Given the description of an element on the screen output the (x, y) to click on. 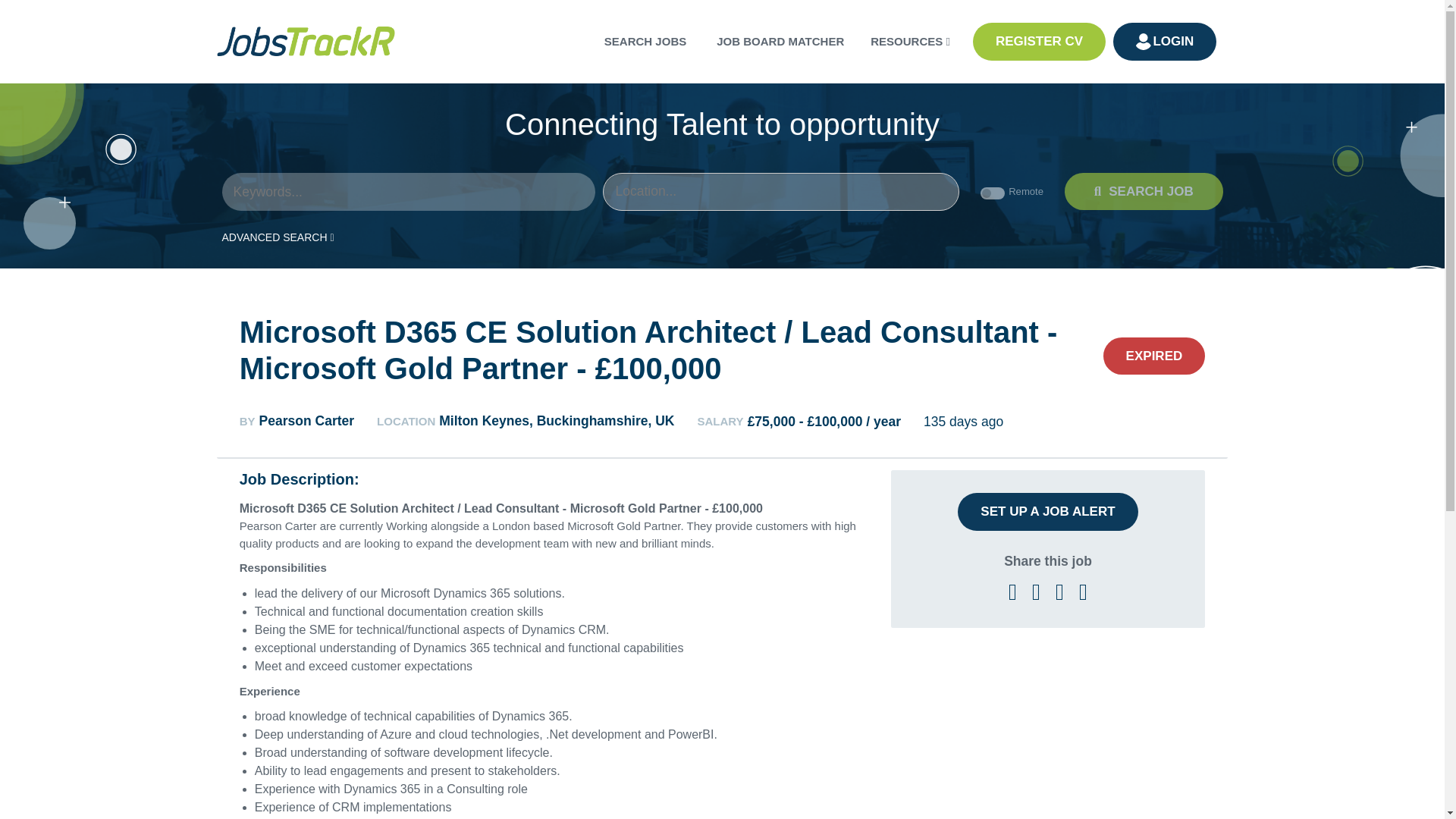
Pearson Carter (306, 421)
SEARCH JOBS (644, 41)
EXPIRED (1154, 355)
RESOURCES (909, 41)
REGISTER CV (1038, 41)
Milton Keynes, Buckinghamshire, UK (556, 421)
LOGIN (1164, 41)
SET UP A JOB ALERT (1047, 511)
on (991, 193)
SEARCH JOB (1143, 191)
JOB BOARD MATCHER (780, 41)
